Given the description of an element on the screen output the (x, y) to click on. 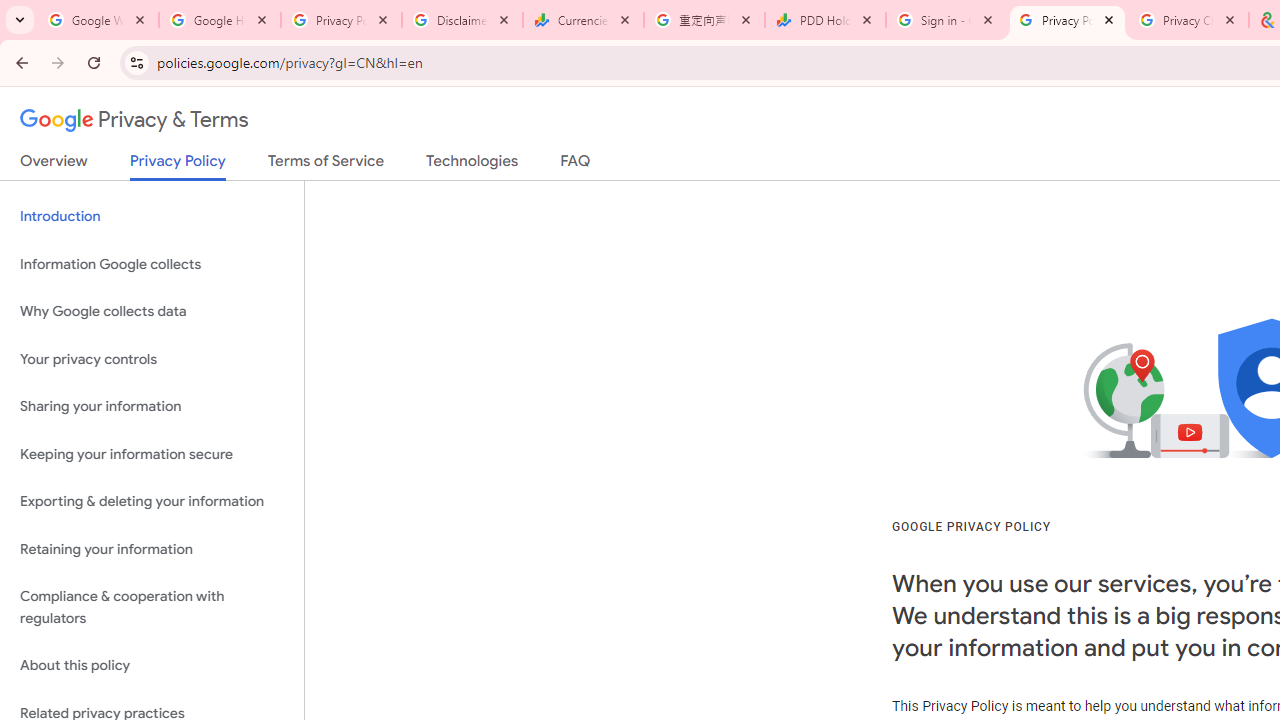
Currencies - Google Finance (583, 20)
PDD Holdings Inc - ADR (PDD) Price & News - Google Finance (825, 20)
